Given the description of an element on the screen output the (x, y) to click on. 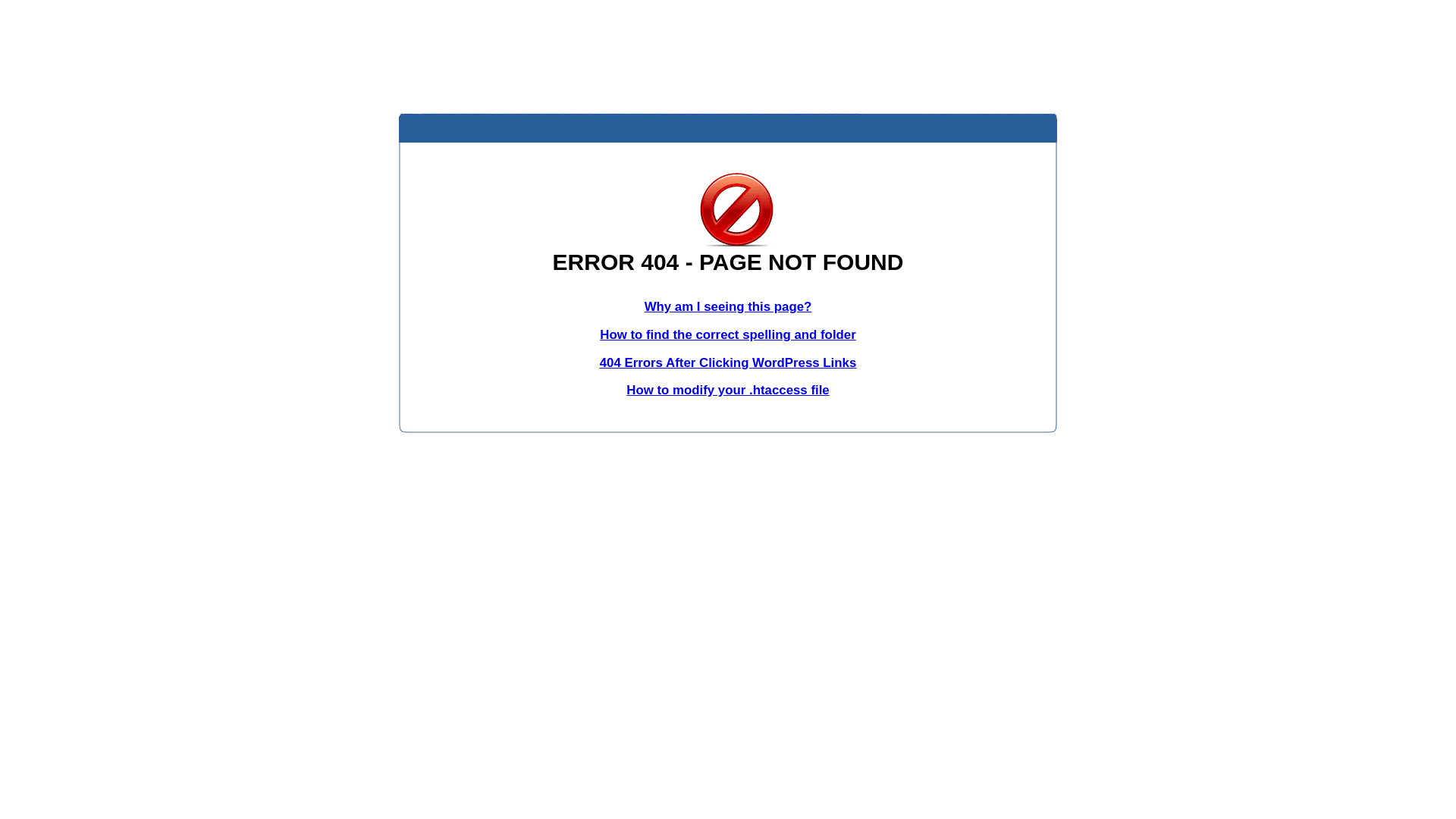
Why am I seeing this page? Element type: text (728, 306)
How to find the correct spelling and folder Element type: text (727, 334)
404 Errors After Clicking WordPress Links Element type: text (727, 362)
How to modify your .htaccess file Element type: text (727, 389)
